Given the description of an element on the screen output the (x, y) to click on. 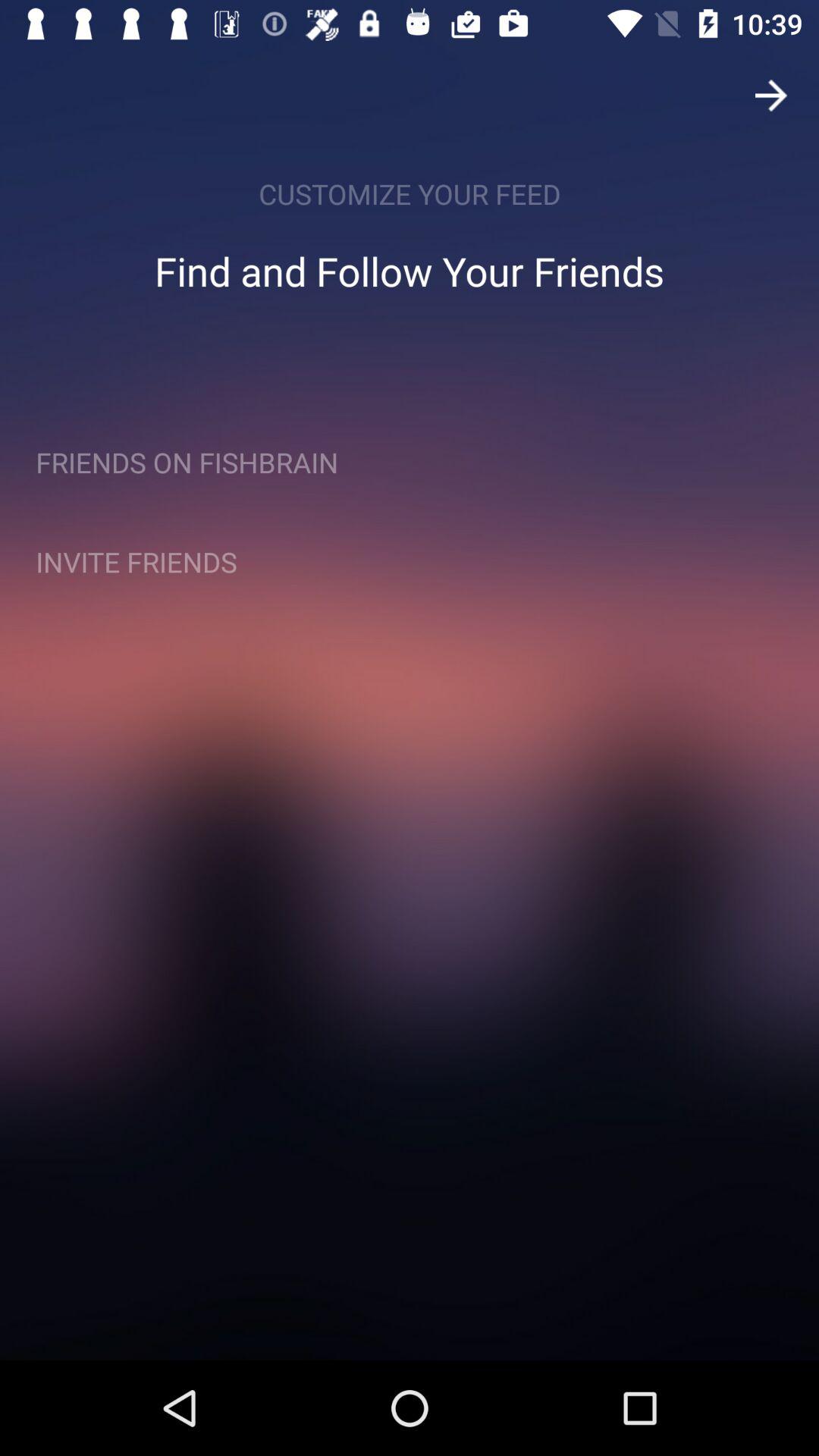
go to next (771, 95)
